Given the description of an element on the screen output the (x, y) to click on. 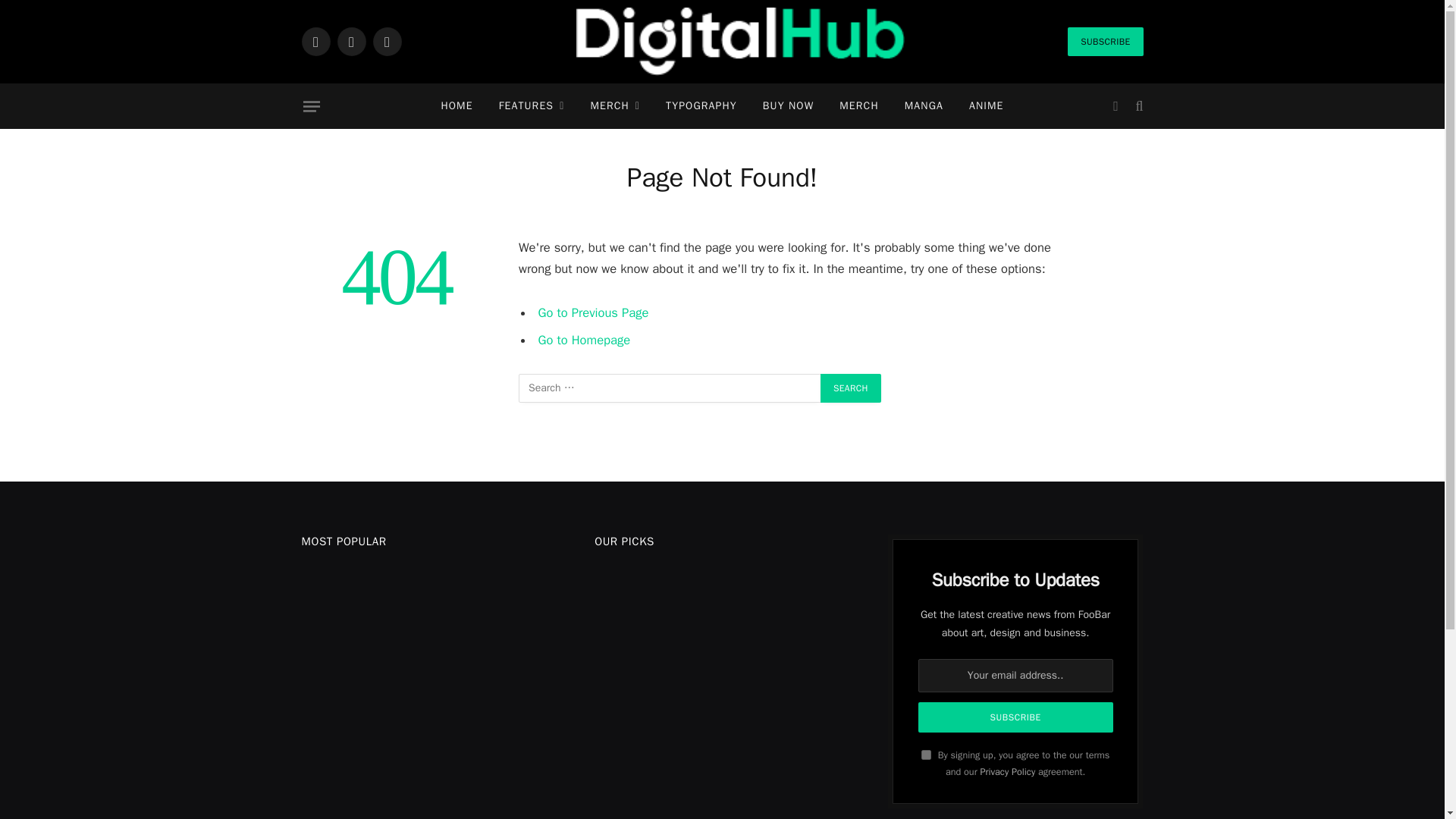
Go to Homepage (584, 340)
Go to Previous Page (593, 312)
on (926, 755)
Search (850, 387)
Subscribe (1015, 716)
Search (850, 387)
Switch to Dark Design - easier on eyes. (1115, 106)
SUBSCRIBE (1104, 41)
MANGA (923, 105)
ANIME (986, 105)
FEATURES (532, 105)
Facebook (315, 41)
Privacy Policy (1007, 771)
BUY NOW (788, 105)
Subscribe (1015, 716)
